Given the description of an element on the screen output the (x, y) to click on. 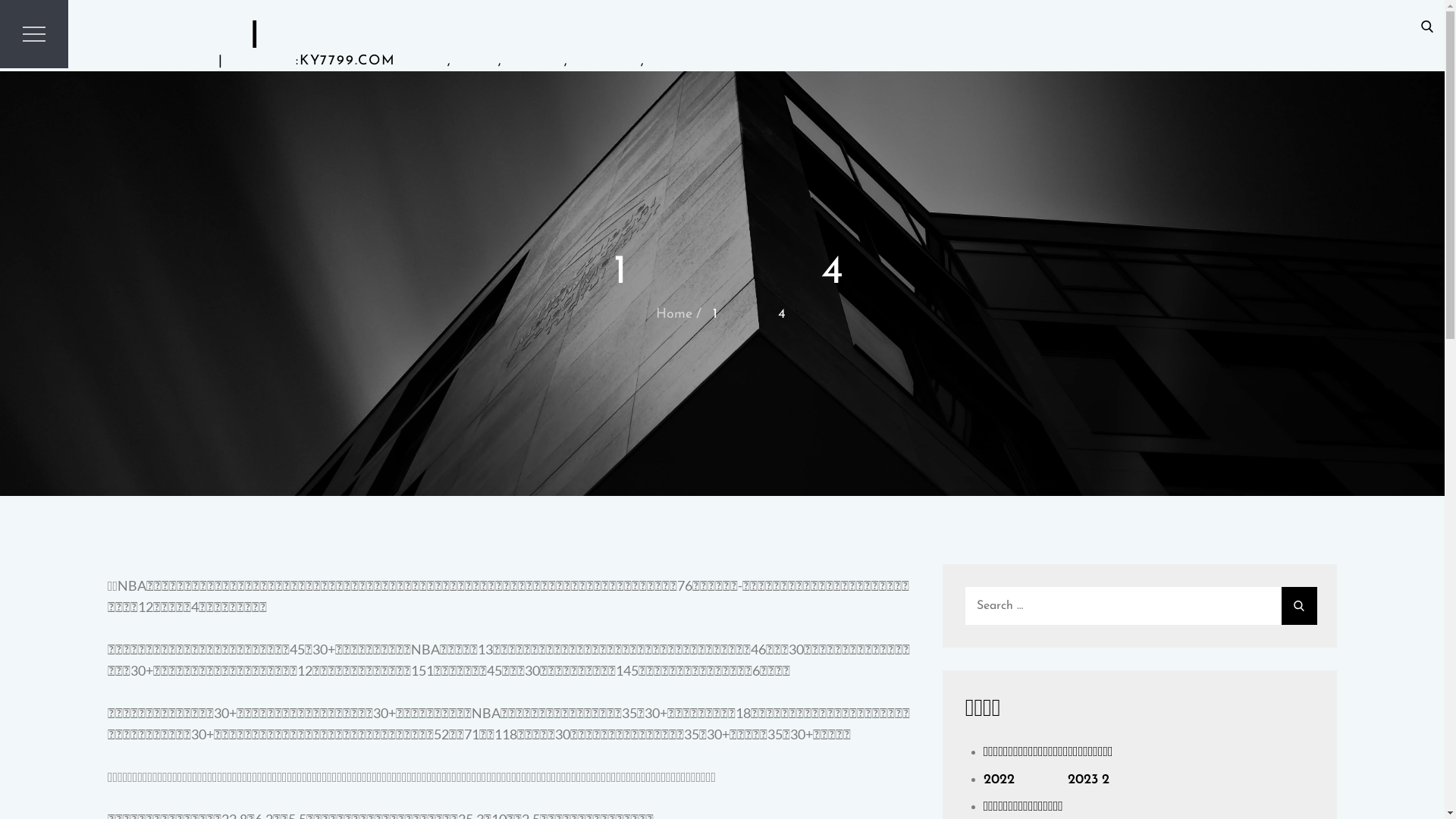
Search Element type: hover (1427, 25)
Search Element type: text (1299, 605)
Home Element type: text (673, 314)
Primary Menu Element type: hover (34, 34)
